Given the description of an element on the screen output the (x, y) to click on. 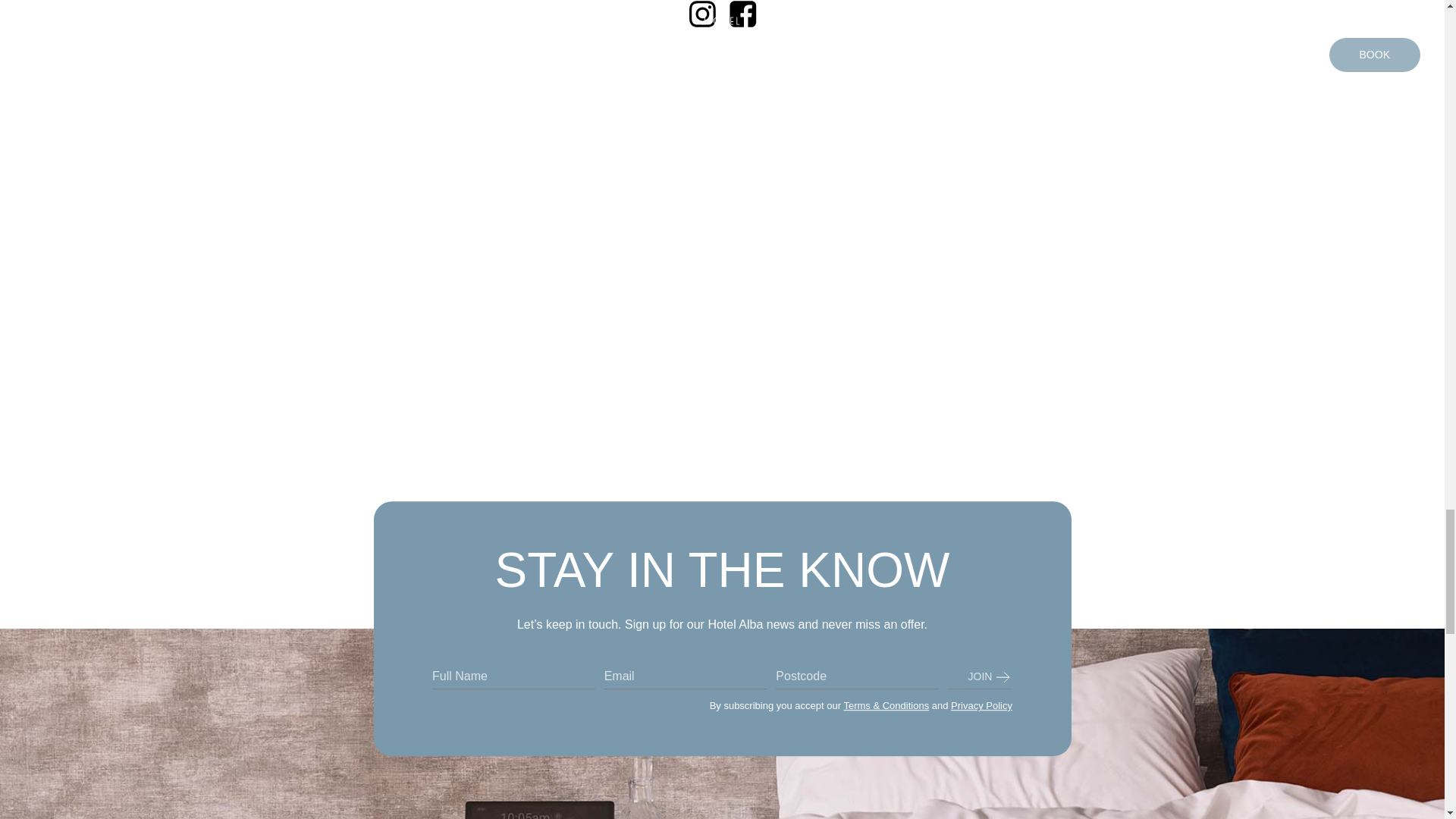
Join (979, 676)
